Given the description of an element on the screen output the (x, y) to click on. 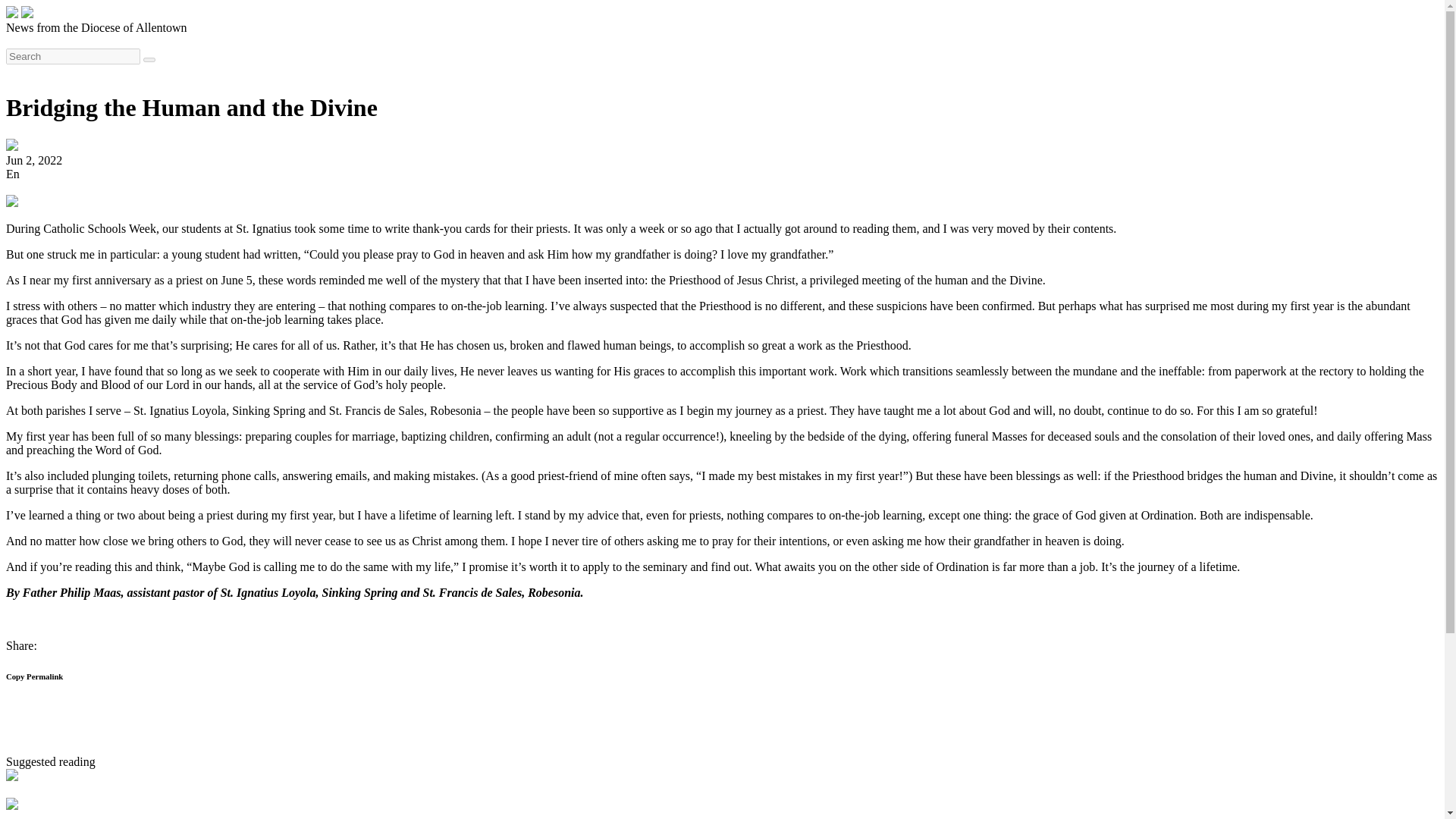
Search (22, 70)
All Sections (255, 41)
Print (14, 704)
Diocesan Staff (57, 146)
Subscribe (66, 70)
Events (164, 41)
Local (130, 41)
AD Times (30, 41)
Livestream (86, 41)
